Given the description of an element on the screen output the (x, y) to click on. 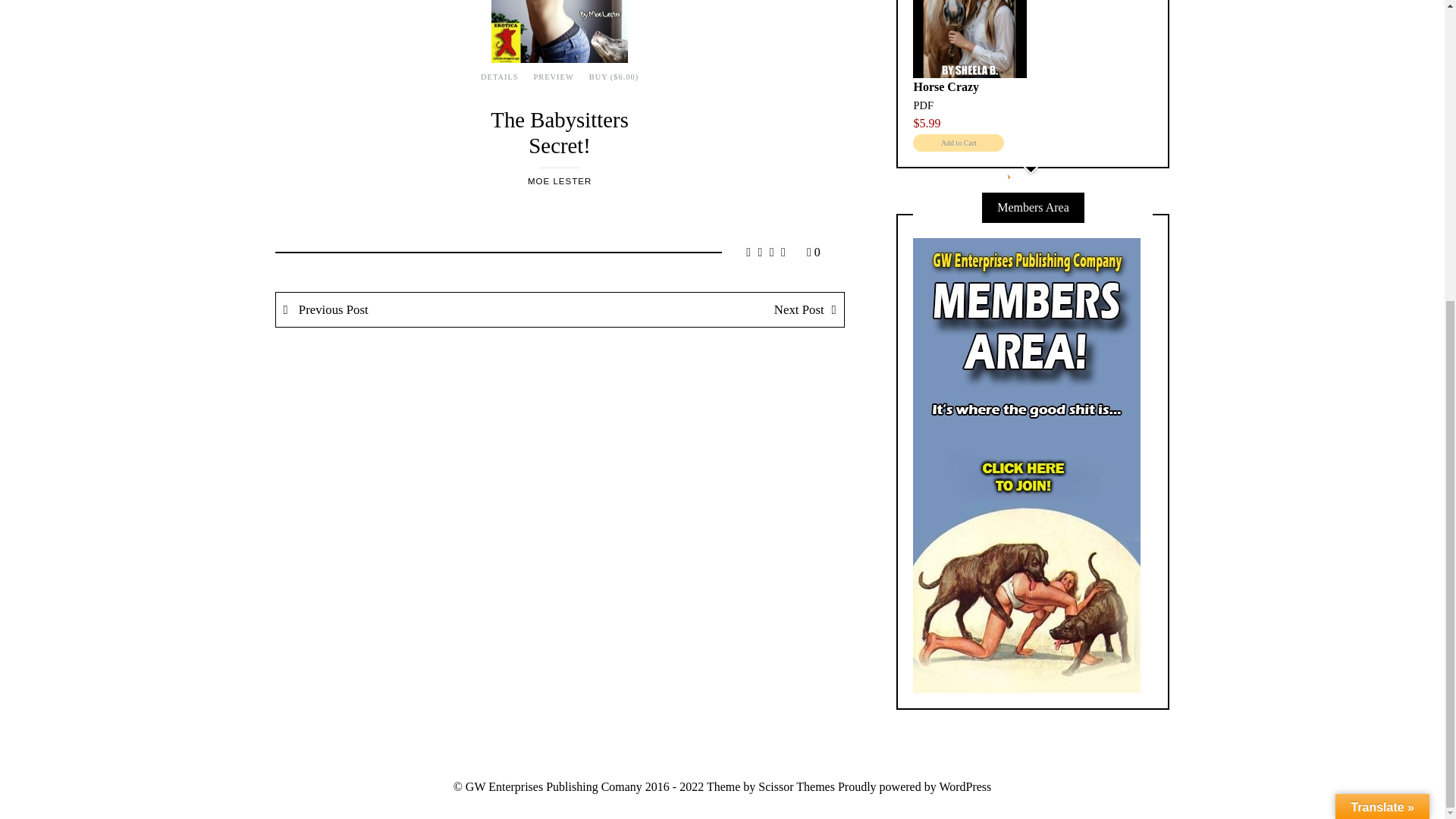
Horse Crazy (945, 86)
Next Post (701, 309)
Add to Cart (958, 142)
Scissor Themes (796, 786)
PDF (922, 105)
0 (813, 251)
Previous Post (418, 309)
Add to Cart (958, 142)
PREVIEW (553, 77)
WordPress (965, 786)
DETAILS (499, 77)
